Given the description of an element on the screen output the (x, y) to click on. 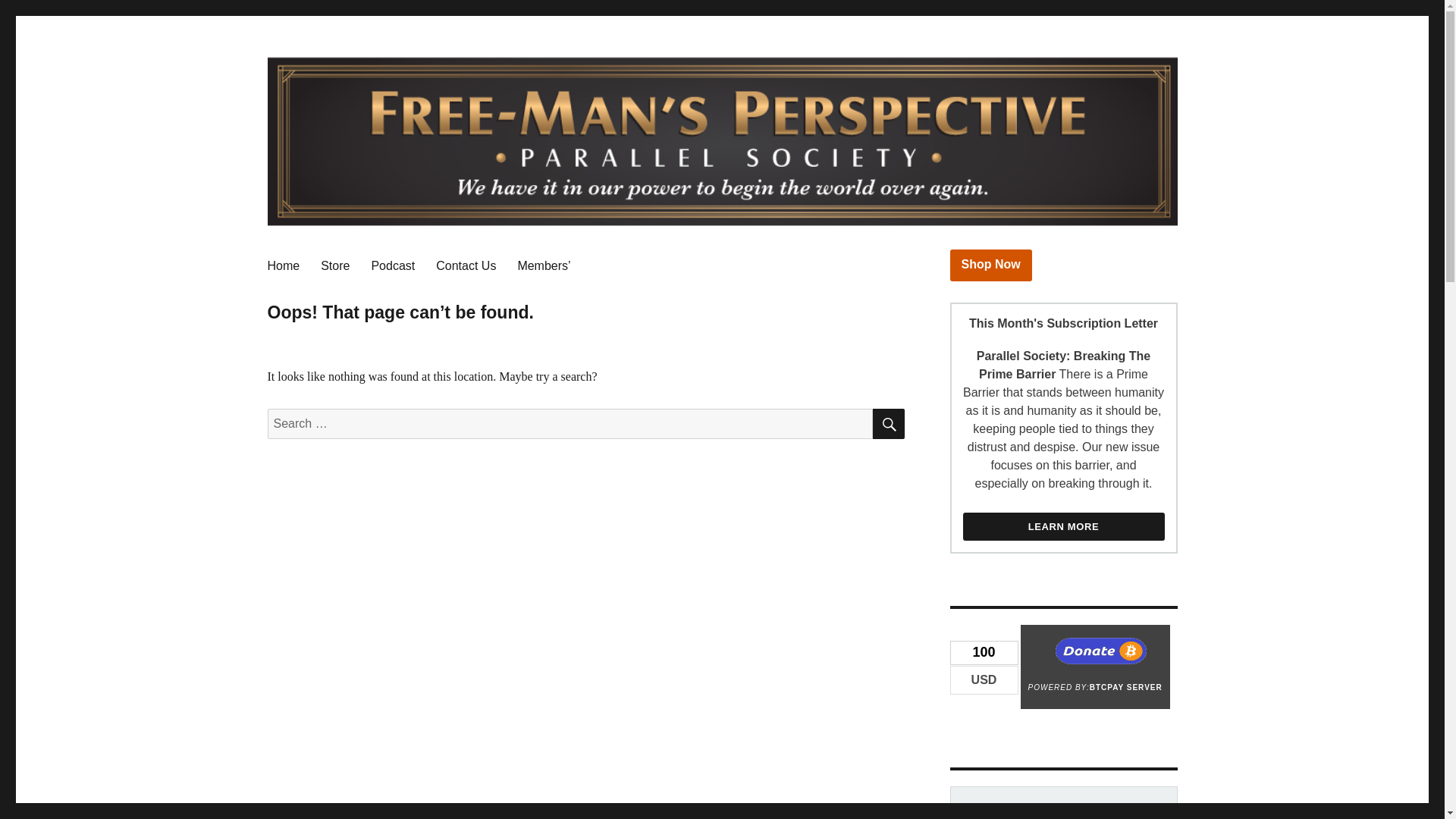
SEARCH (888, 423)
Podcast (392, 265)
LEARN MORE (1063, 526)
Home (283, 265)
Shop Now (989, 265)
100 (983, 652)
Contact Us (465, 265)
POWERED BY:BTCPAY SERVER (1095, 666)
Store (334, 265)
